Given the description of an element on the screen output the (x, y) to click on. 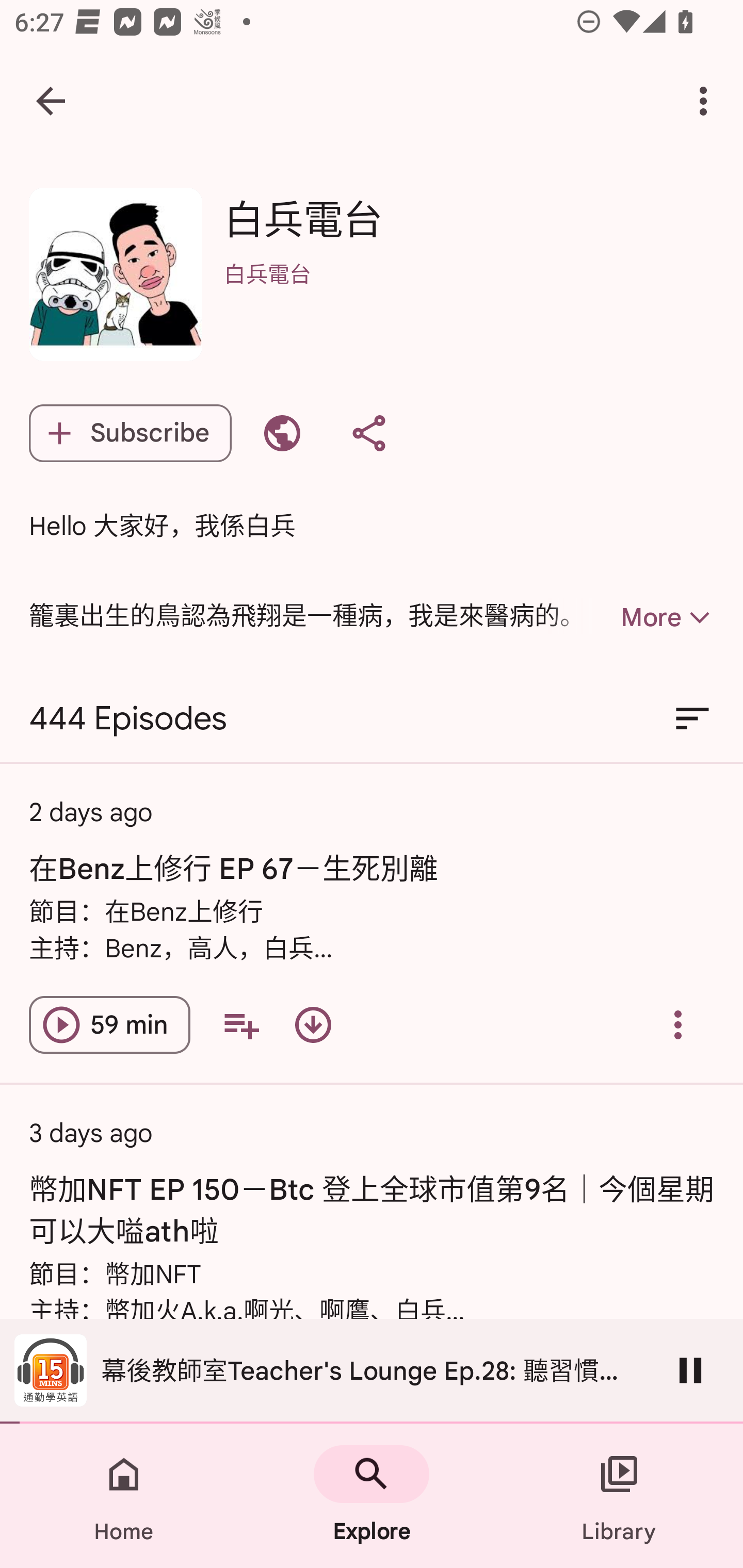
Navigate up (50, 101)
More options (706, 101)
白兵電台 (468, 300)
Subscribe (129, 433)
Visit website (282, 433)
Share (368, 433)
More (631, 616)
Sort (692, 718)
Play episode 在Benz上修行 EP 67－生死別離 59 min (109, 1024)
Add to your queue (241, 1024)
Download episode (313, 1024)
Overflow menu (677, 1024)
Pause (690, 1370)
Home (123, 1495)
Library (619, 1495)
